Given the description of an element on the screen output the (x, y) to click on. 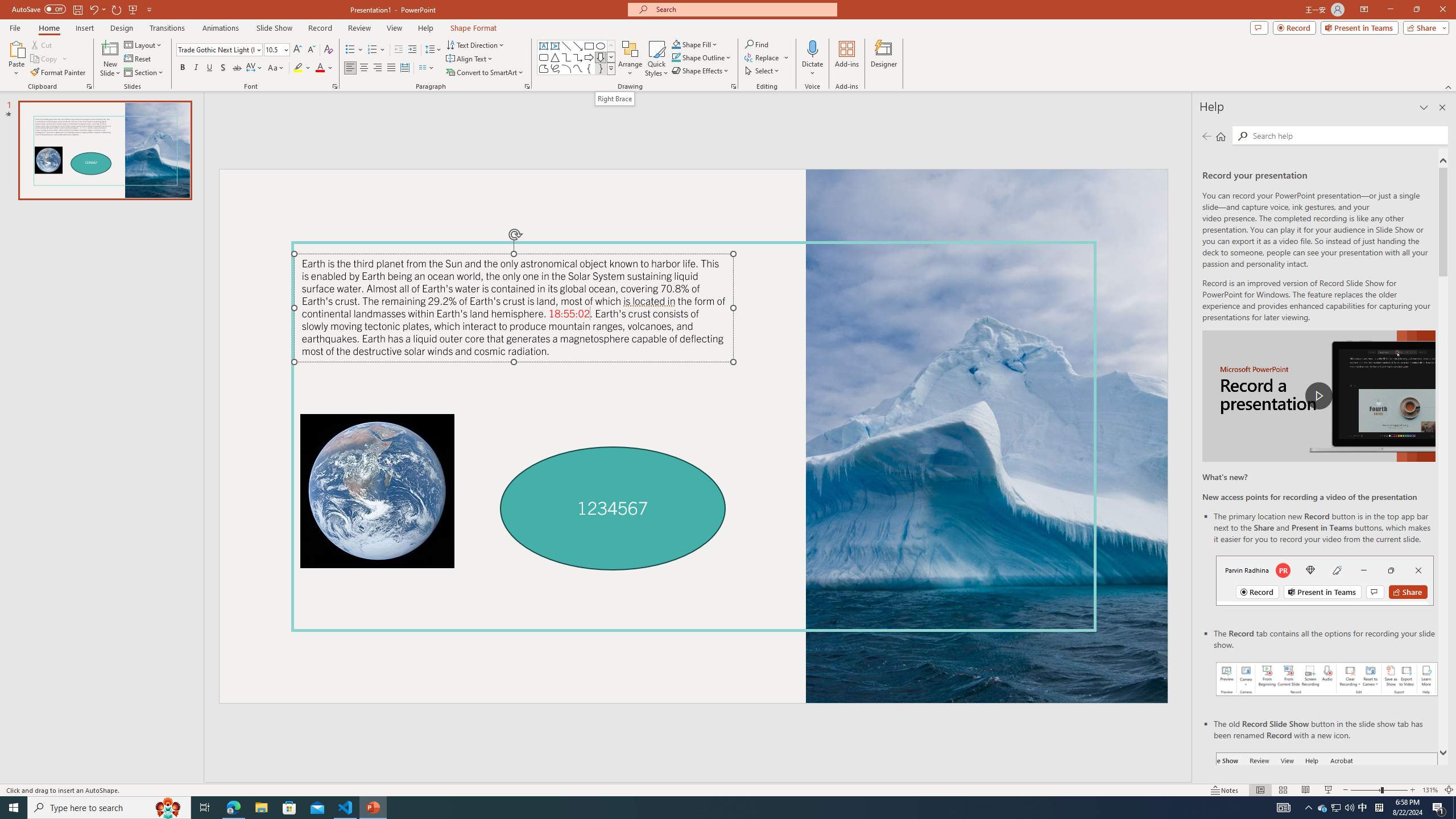
Record your presentations screenshot one (1326, 678)
Zoom 131% (1430, 790)
